Given the description of an element on the screen output the (x, y) to click on. 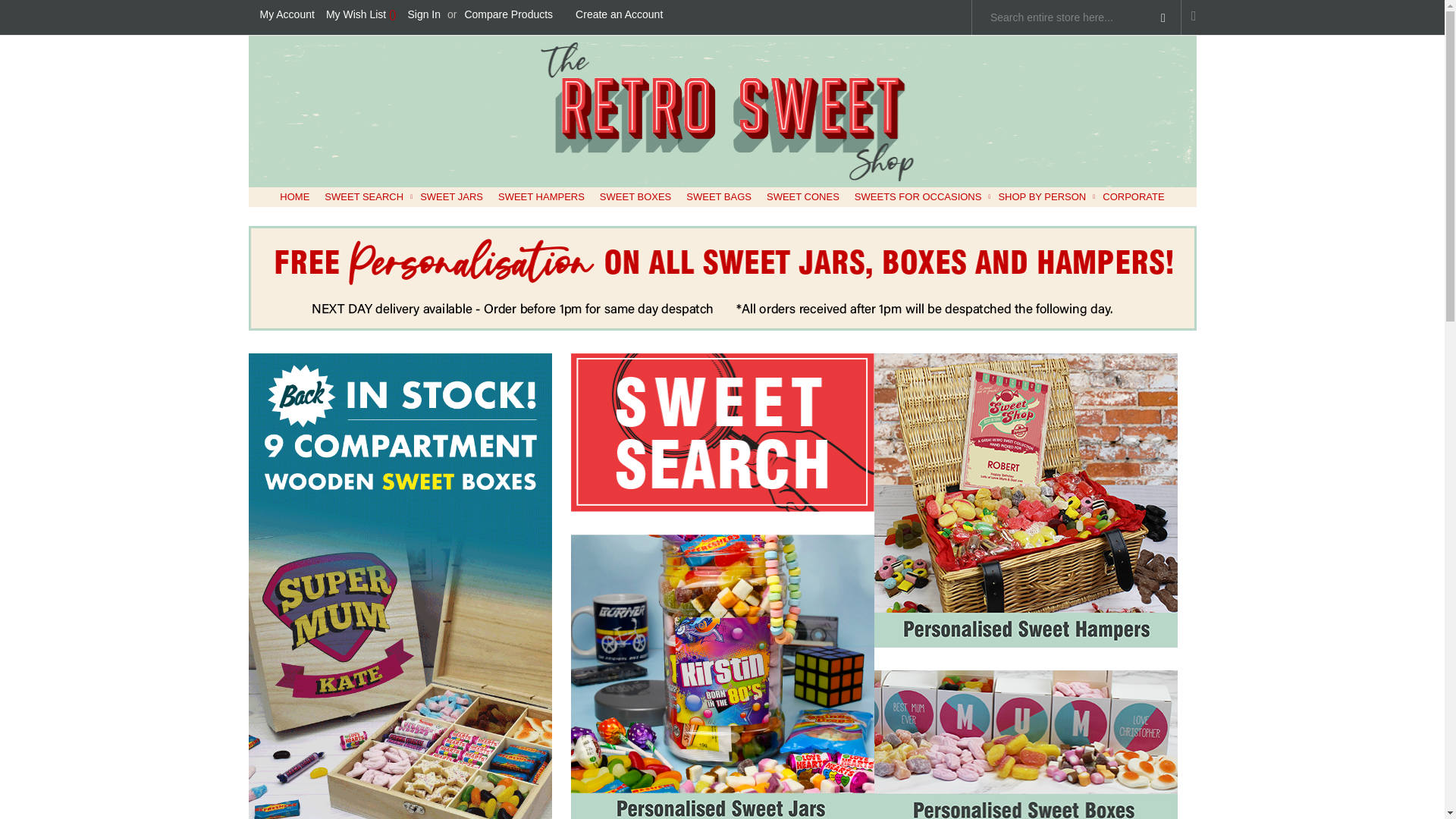
SWEET SEARCH (364, 197)
HOME (294, 197)
Compare Products (508, 14)
Compare Products (508, 14)
My Account (286, 14)
Create an Account (618, 14)
Sign In (424, 14)
My Wish List (361, 14)
